Given the description of an element on the screen output the (x, y) to click on. 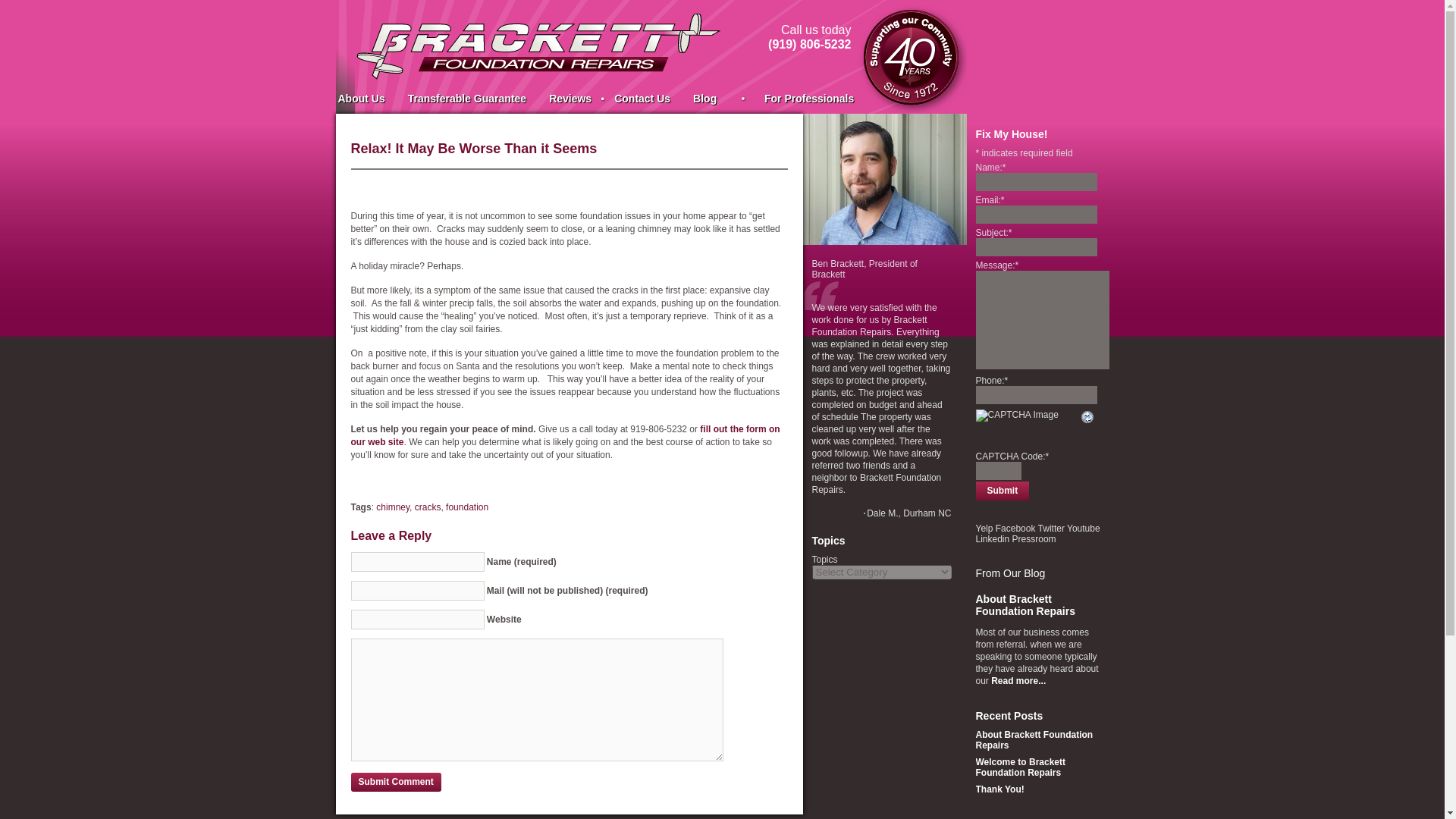
Submit Comment (395, 782)
About Brackett Foundation Repairs (1034, 740)
fill out the form on our web site (564, 435)
Transferable Guarantee (466, 98)
chimney (392, 507)
Submit (1002, 490)
Reviews (569, 98)
Submit Comment (395, 782)
Welcome to Brackett Foundation Repairs (1019, 767)
  For Professionals (796, 98)
